Given the description of an element on the screen output the (x, y) to click on. 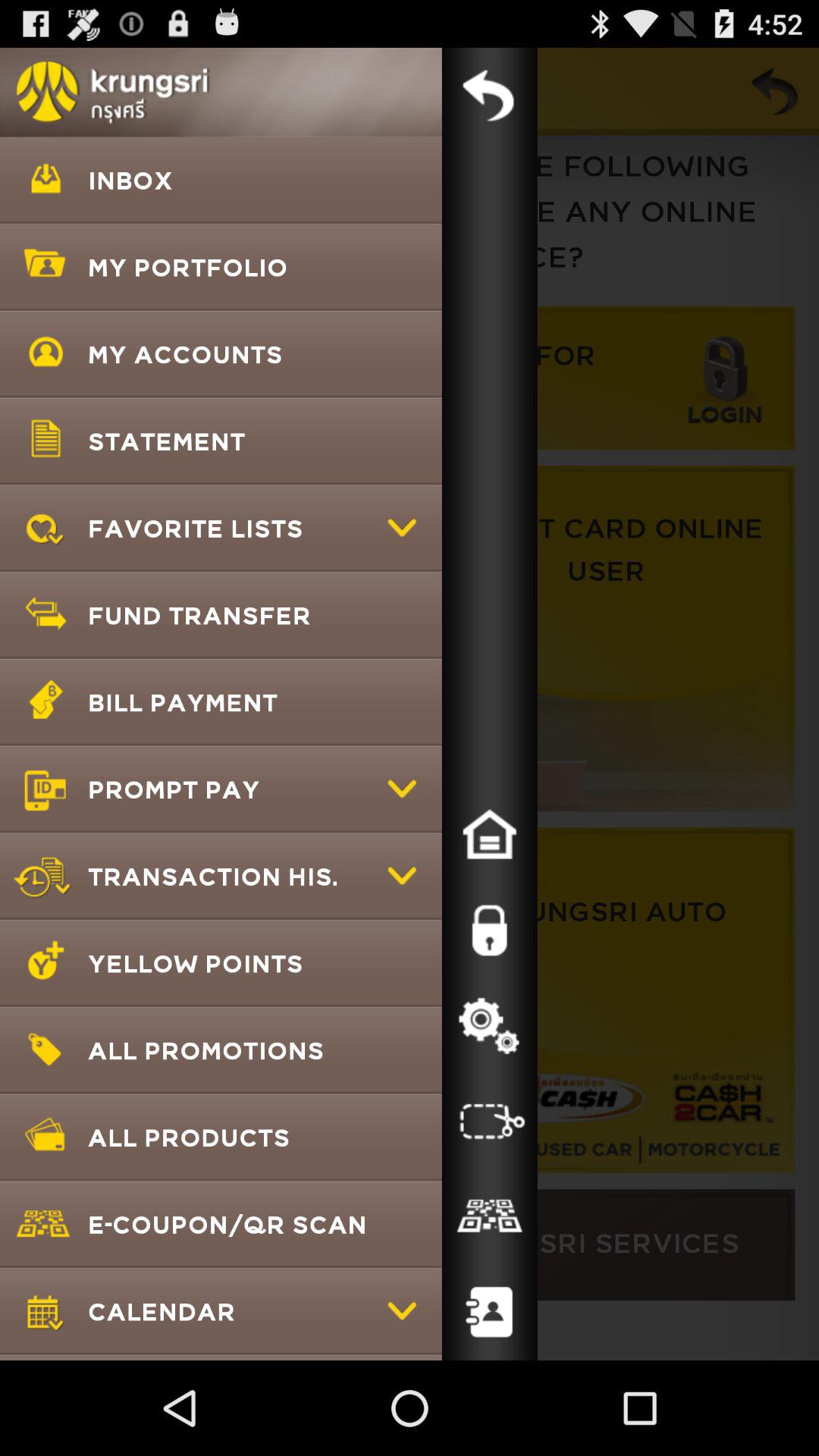
switch to unlock (489, 930)
